Given the description of an element on the screen output the (x, y) to click on. 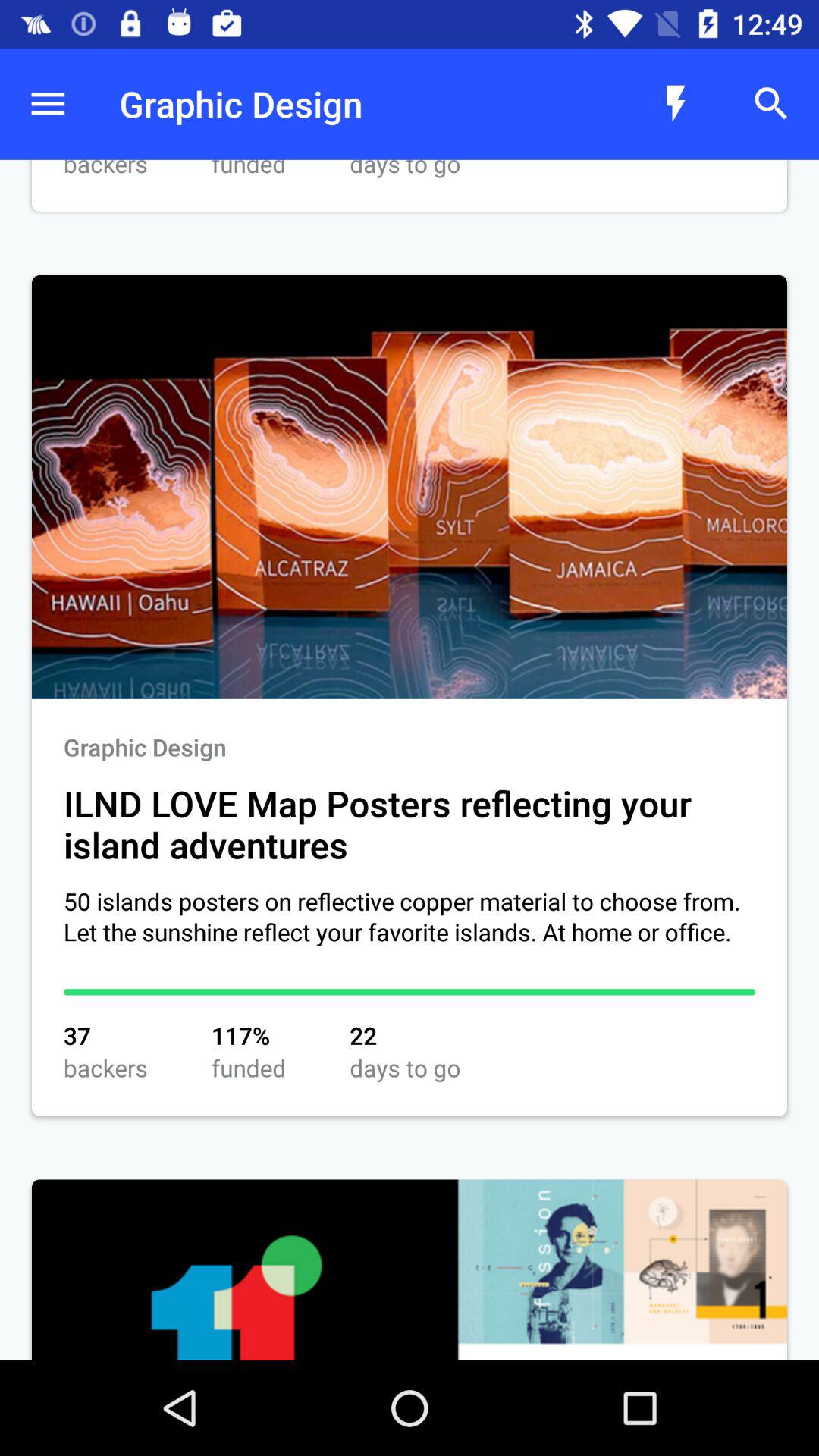
open item next to the graphic design item (47, 103)
